Given the description of an element on the screen output the (x, y) to click on. 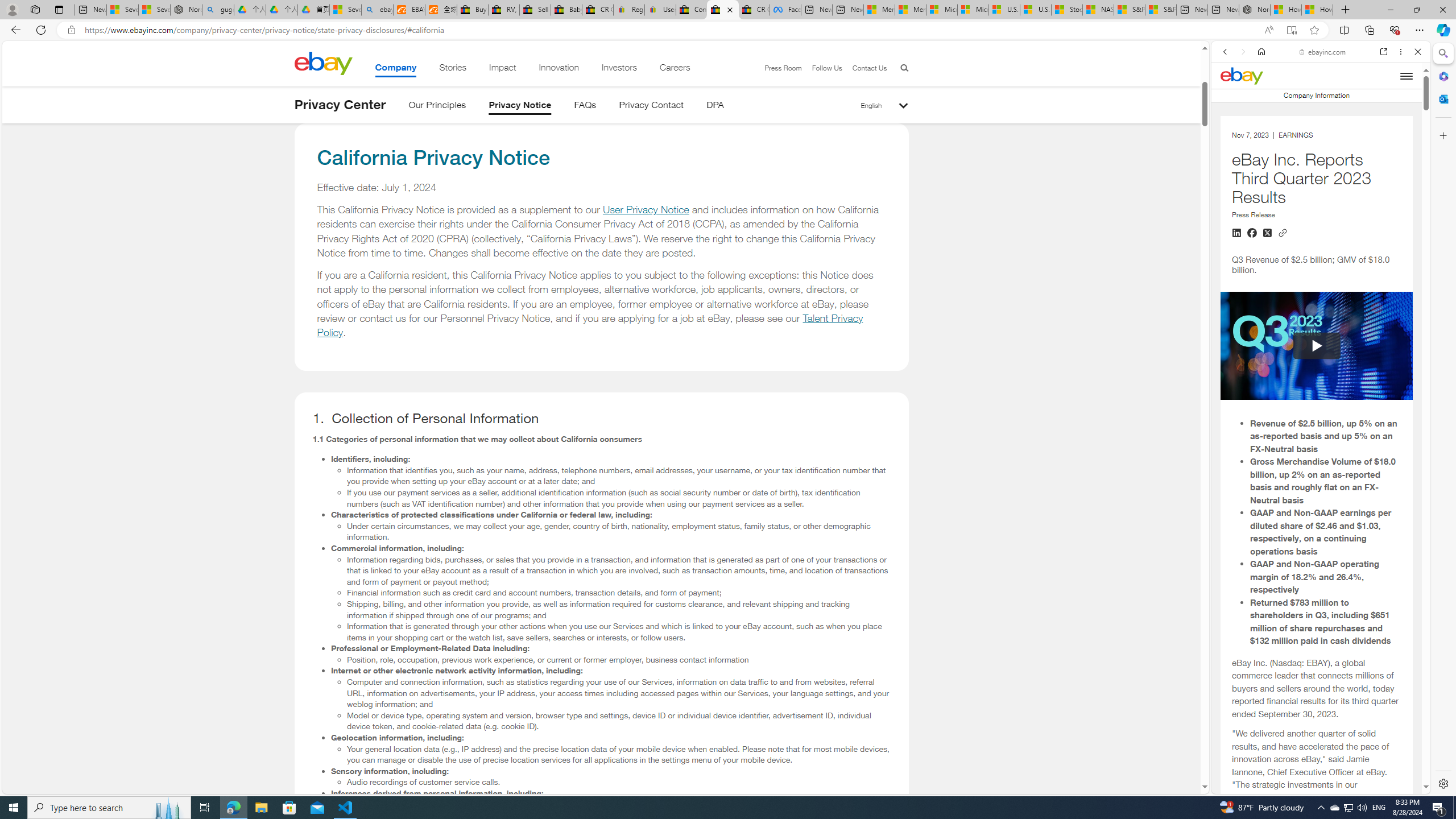
Side bar (1443, 418)
Privacy Notice (520, 107)
Privacy Center (339, 104)
what is another word for including (1315, 741)
Audio recordings of customer service calls. (618, 781)
